Given the description of an element on the screen output the (x, y) to click on. 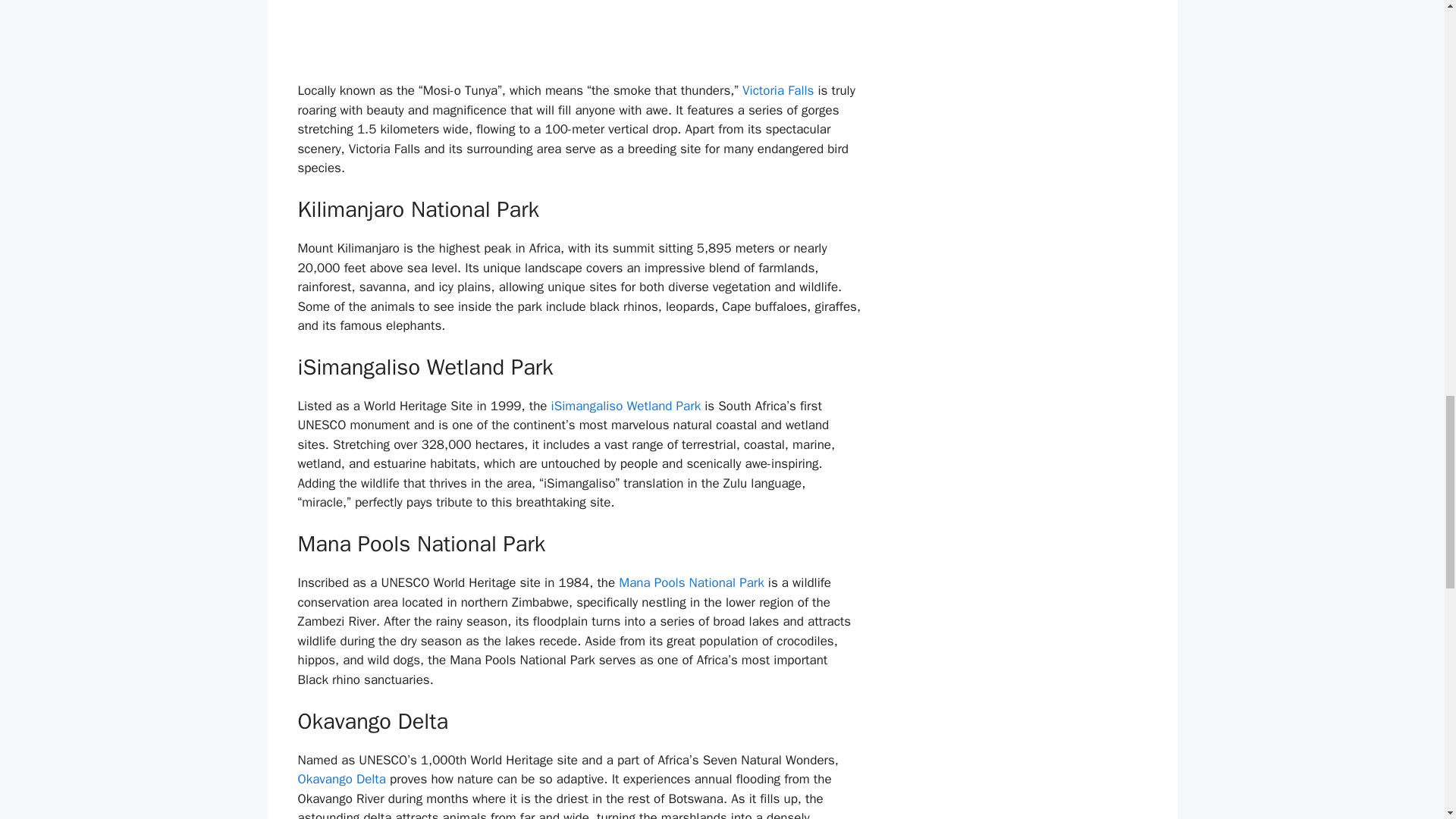
Okavango Delta (341, 779)
Victoria Falls (777, 90)
Mana Pools National Park (690, 582)
iSimangaliso Wetland Park (626, 406)
